Given the description of an element on the screen output the (x, y) to click on. 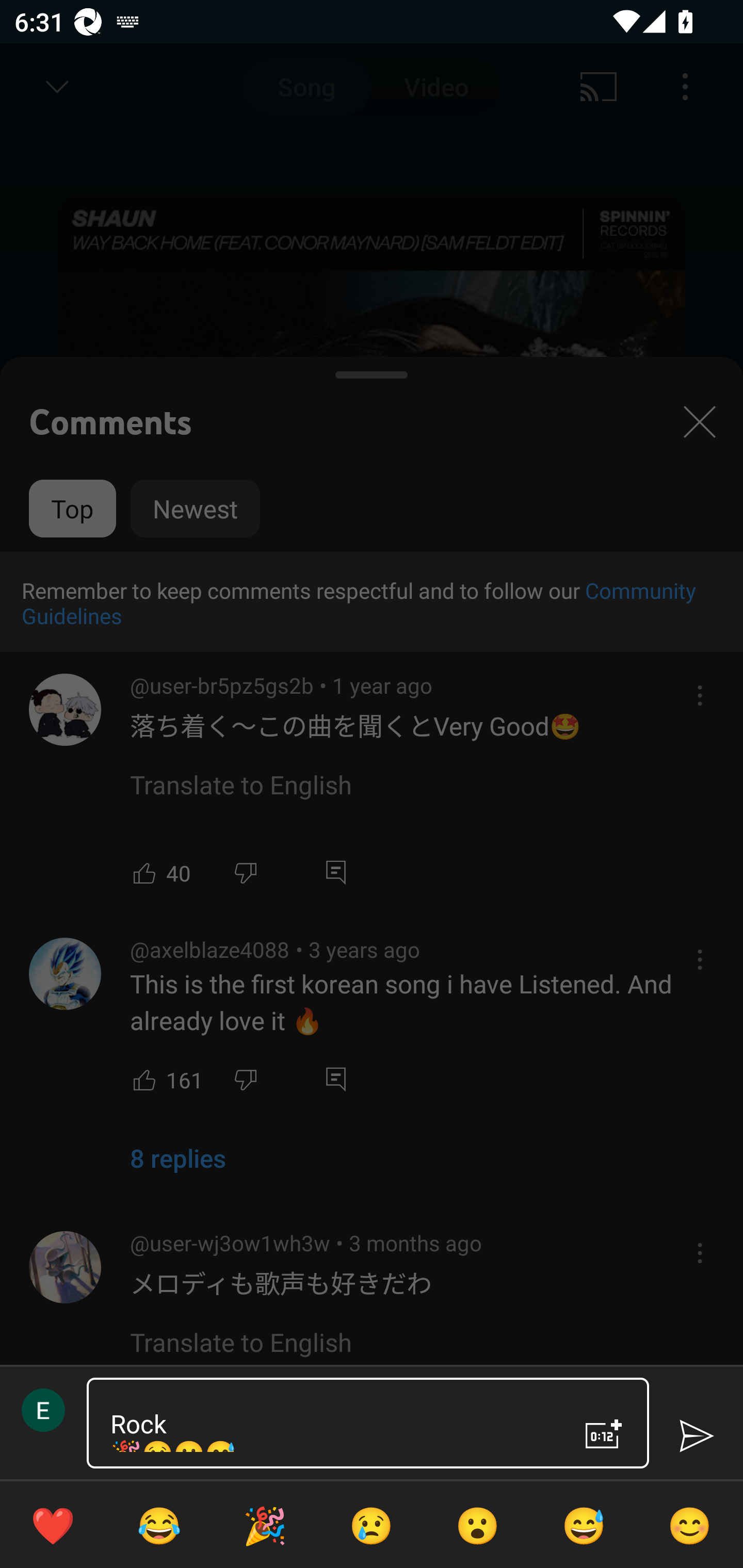
Rock
🎉😢😮😅 (329, 1422)
Add a timestamp (603, 1433)
Send comment (695, 1436)
❤ (53, 1524)
😂 (158, 1524)
🎉 (264, 1524)
😢 (371, 1524)
😮 (477, 1524)
😅 (583, 1524)
😊 (689, 1524)
